Given the description of an element on the screen output the (x, y) to click on. 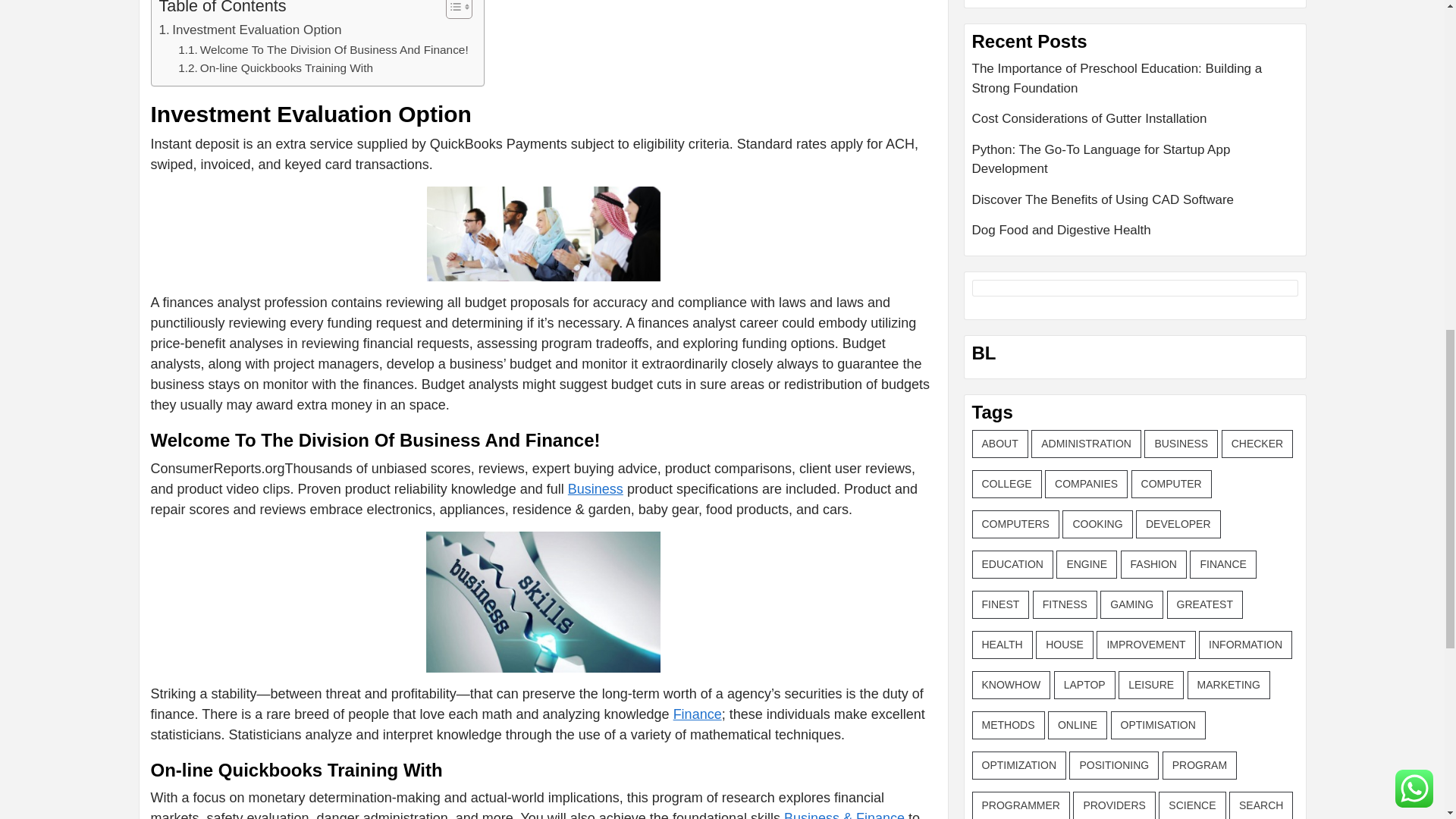
Python: The Go-To Language for Startup App Development (1135, 165)
ABOUT (999, 443)
Investment Evaluation Option (250, 29)
Investment Evaluation Option (250, 29)
Business (595, 488)
Welcome To The Division Of Business And Finance! (322, 49)
Discover The Benefits of Using CAD Software (1135, 205)
On-line Quickbooks Training With (274, 67)
Cost Considerations of Gutter Installation (1135, 124)
